Given the description of an element on the screen output the (x, y) to click on. 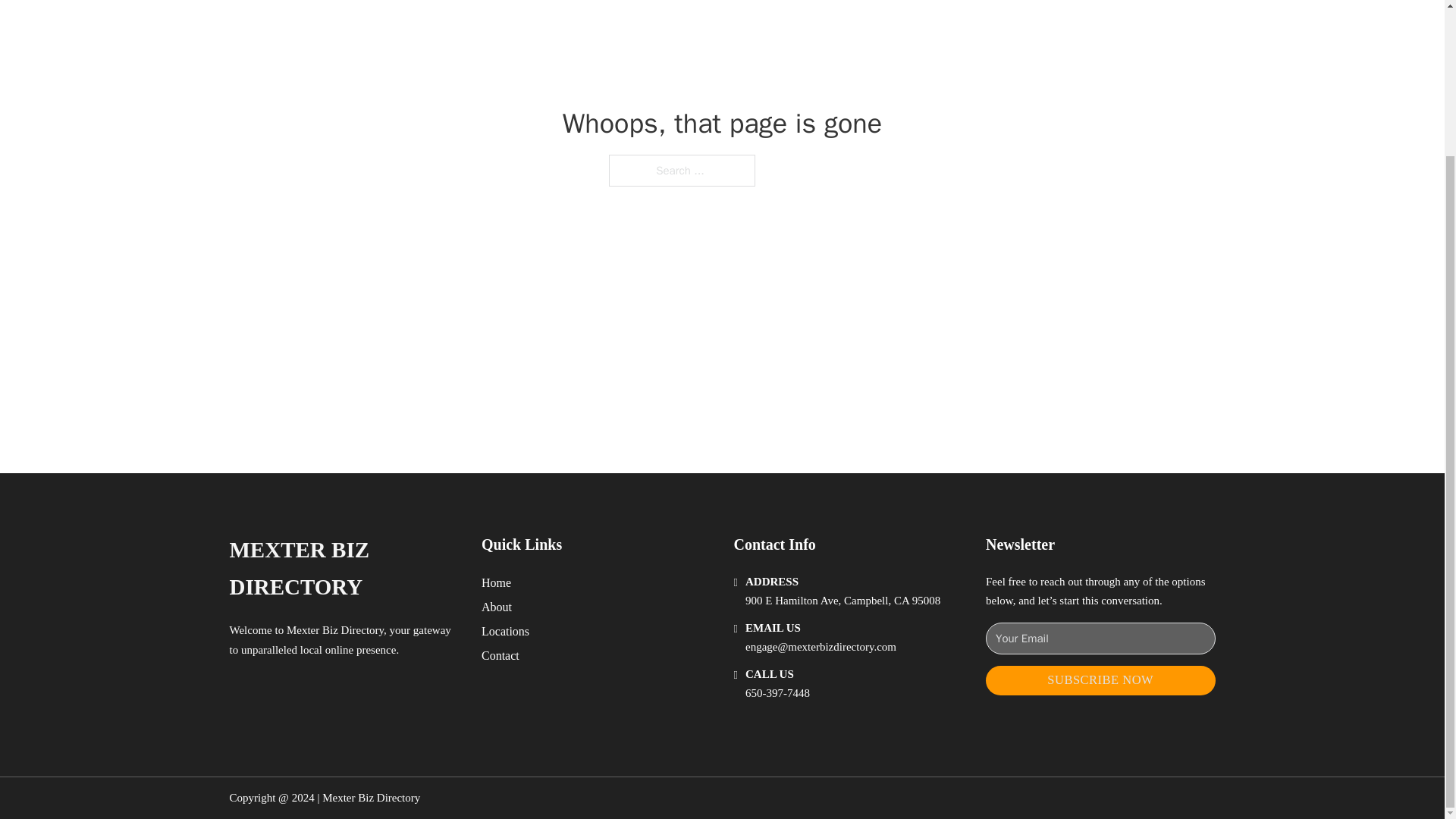
Contact (500, 655)
MEXTER BIZ DIRECTORY (343, 568)
SUBSCRIBE NOW (1100, 680)
650-397-7448 (777, 693)
About (496, 607)
Home (496, 582)
Locations (505, 630)
